Given the description of an element on the screen output the (x, y) to click on. 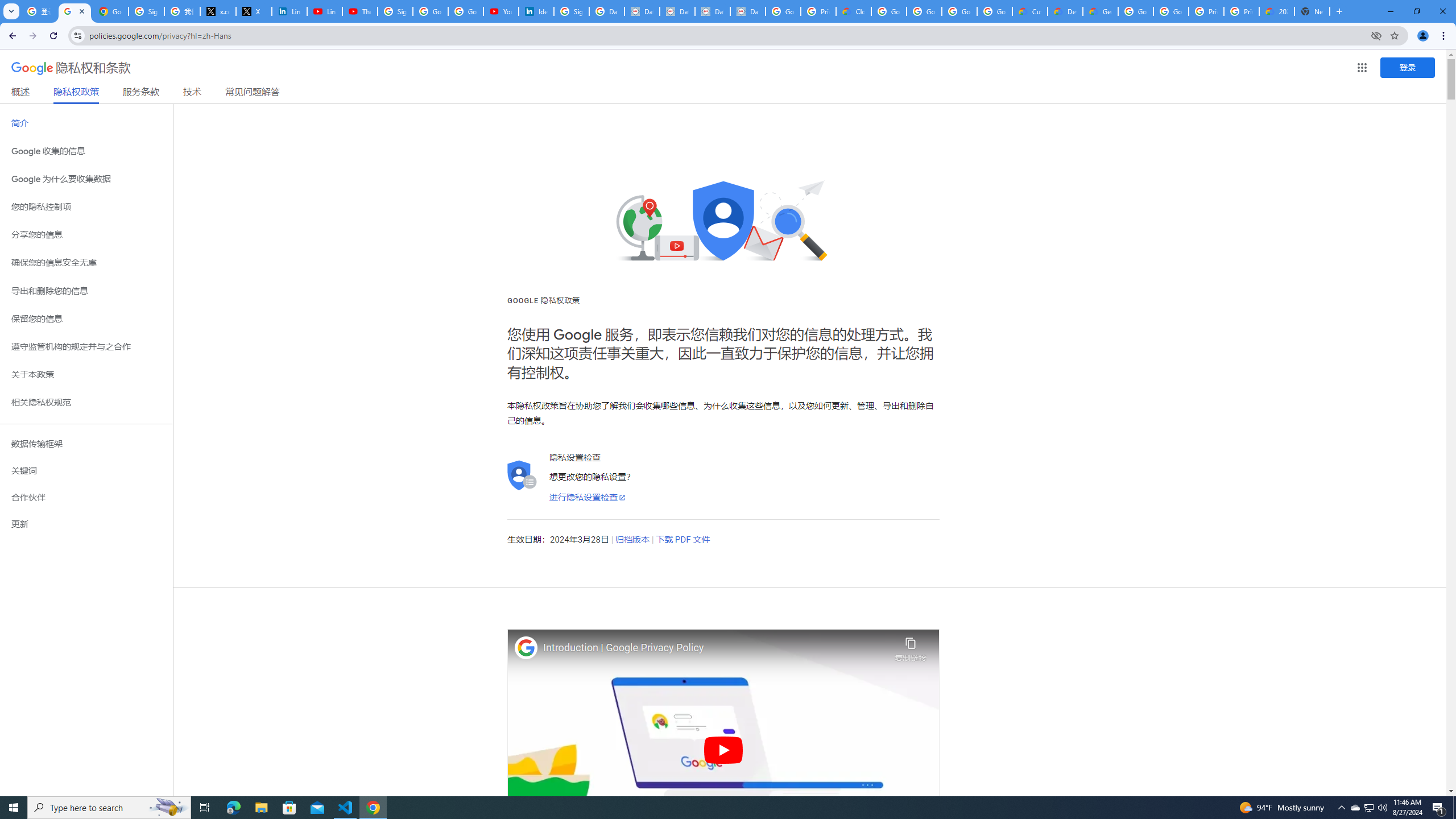
Gemini for Business and Developers | Google Cloud (1099, 11)
Sign in - Google Accounts (145, 11)
Sign in - Google Accounts (394, 11)
Customer Care | Google Cloud (1029, 11)
Data Privacy Framework (712, 11)
Google Workspace - Specific Terms (959, 11)
